Given the description of an element on the screen output the (x, y) to click on. 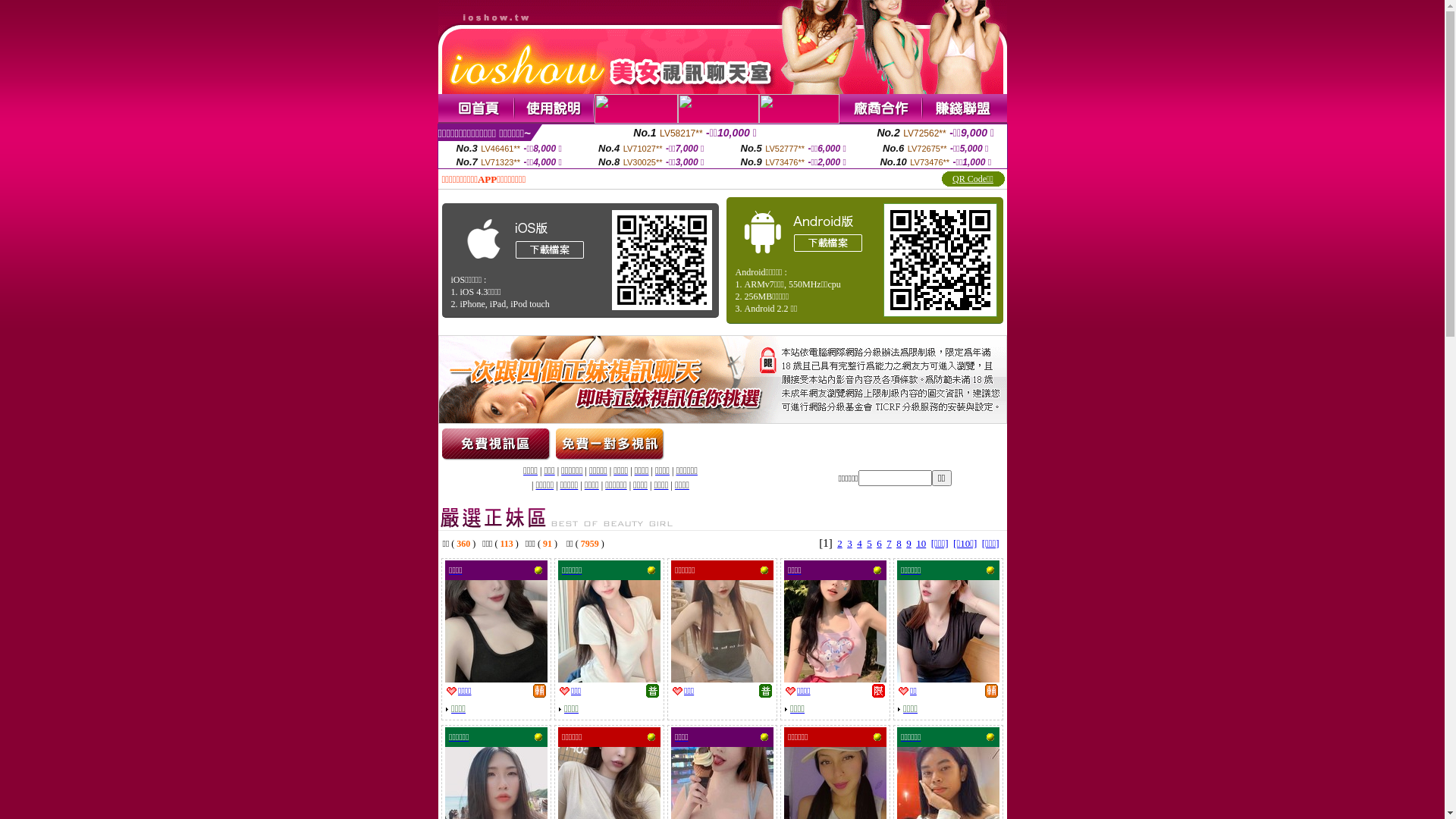
6 Element type: text (878, 543)
7 Element type: text (888, 543)
9 Element type: text (908, 543)
10 Element type: text (920, 543)
8 Element type: text (898, 543)
2 Element type: text (839, 543)
3 Element type: text (849, 543)
5 Element type: text (869, 543)
4 Element type: text (859, 543)
